Given the description of an element on the screen output the (x, y) to click on. 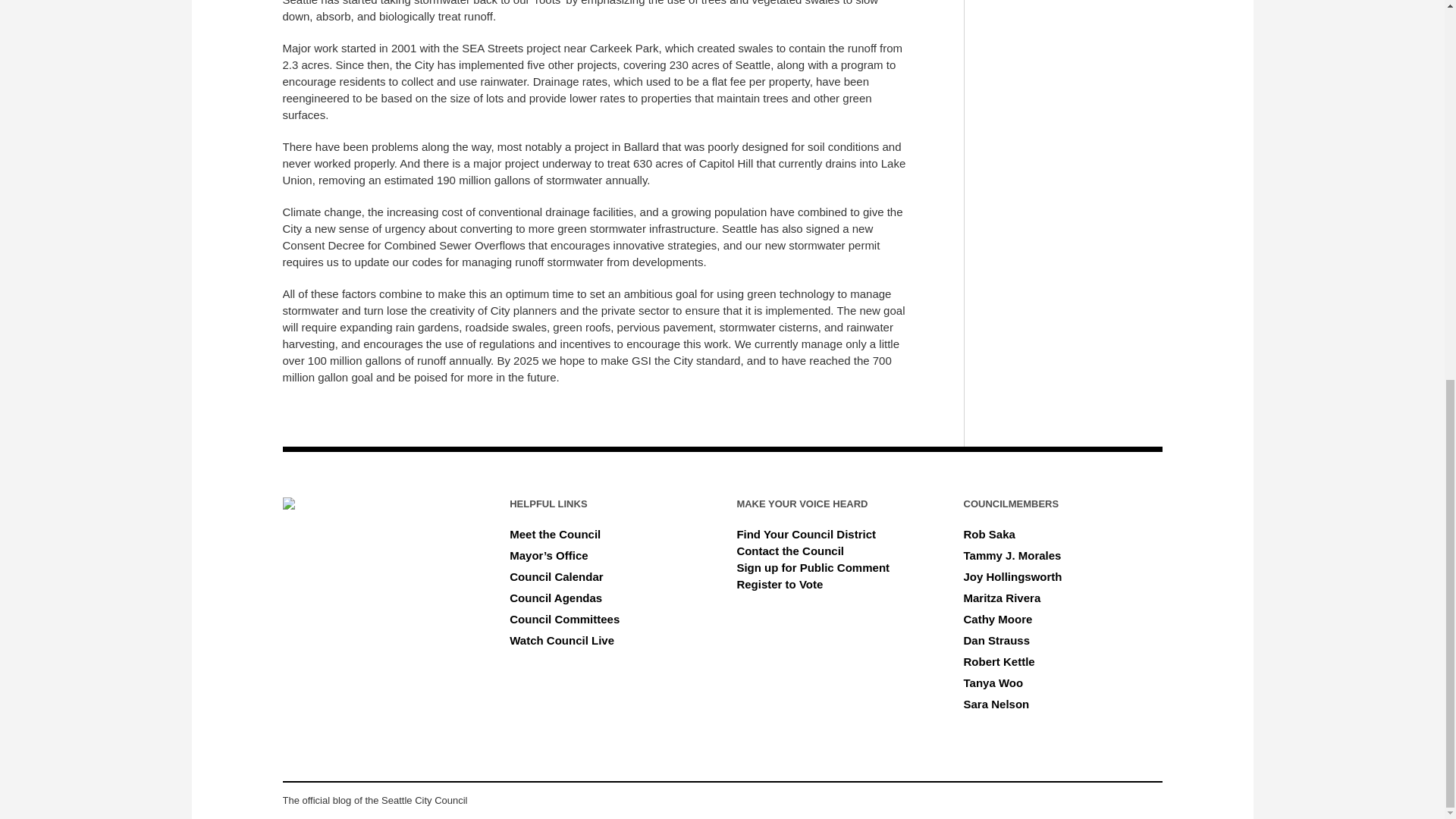
Maritza Rivera (1002, 597)
Meet the Council (554, 533)
Find Your Council District (806, 533)
Watch Council Live (561, 640)
Council Agendas (555, 597)
Rob Saka (988, 533)
Sign up for Public Comment (812, 567)
Cathy Moore (997, 618)
Joy Hollingsworth (1012, 576)
Register to Vote (779, 584)
Contact the Council (790, 550)
Council Calendar (555, 576)
Council Committees (564, 618)
Tammy J. Morales (1012, 554)
